Given the description of an element on the screen output the (x, y) to click on. 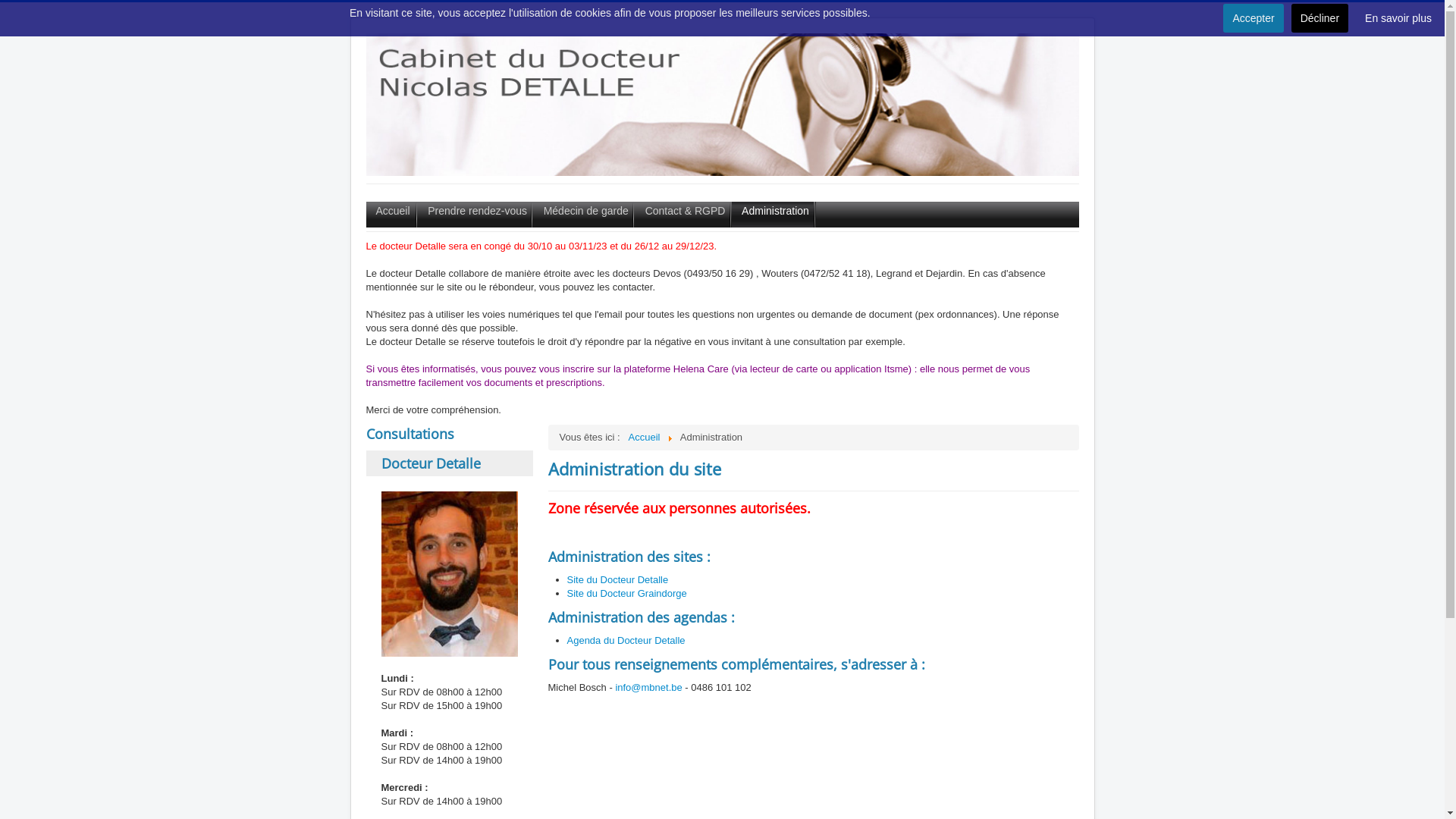
Accepter Element type: text (1253, 17)
Agenda du Docteur Detalle Element type: text (626, 640)
Accueil Element type: text (644, 436)
Site du Docteur Graindorge Element type: text (627, 593)
En savoir plus Element type: text (1397, 17)
Prendre rendez-vous Element type: text (474, 214)
info@mbnet.be Element type: text (648, 687)
Site du Docteur Detalle Element type: text (617, 579)
Accueil Element type: text (390, 214)
Administration Element type: text (773, 214)
Contact & RGPD Element type: text (682, 214)
